Given the description of an element on the screen output the (x, y) to click on. 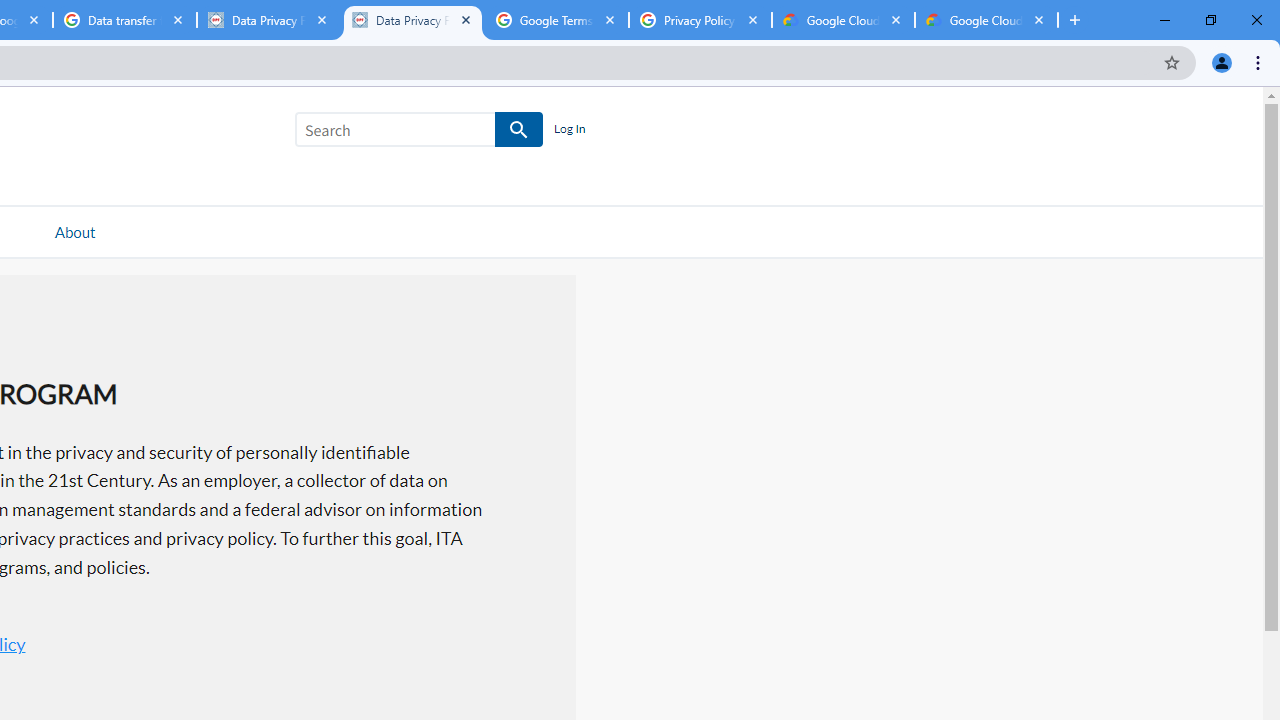
Data Privacy Framework (412, 20)
AutomationID: navitem2 (74, 231)
